Given the description of an element on the screen output the (x, y) to click on. 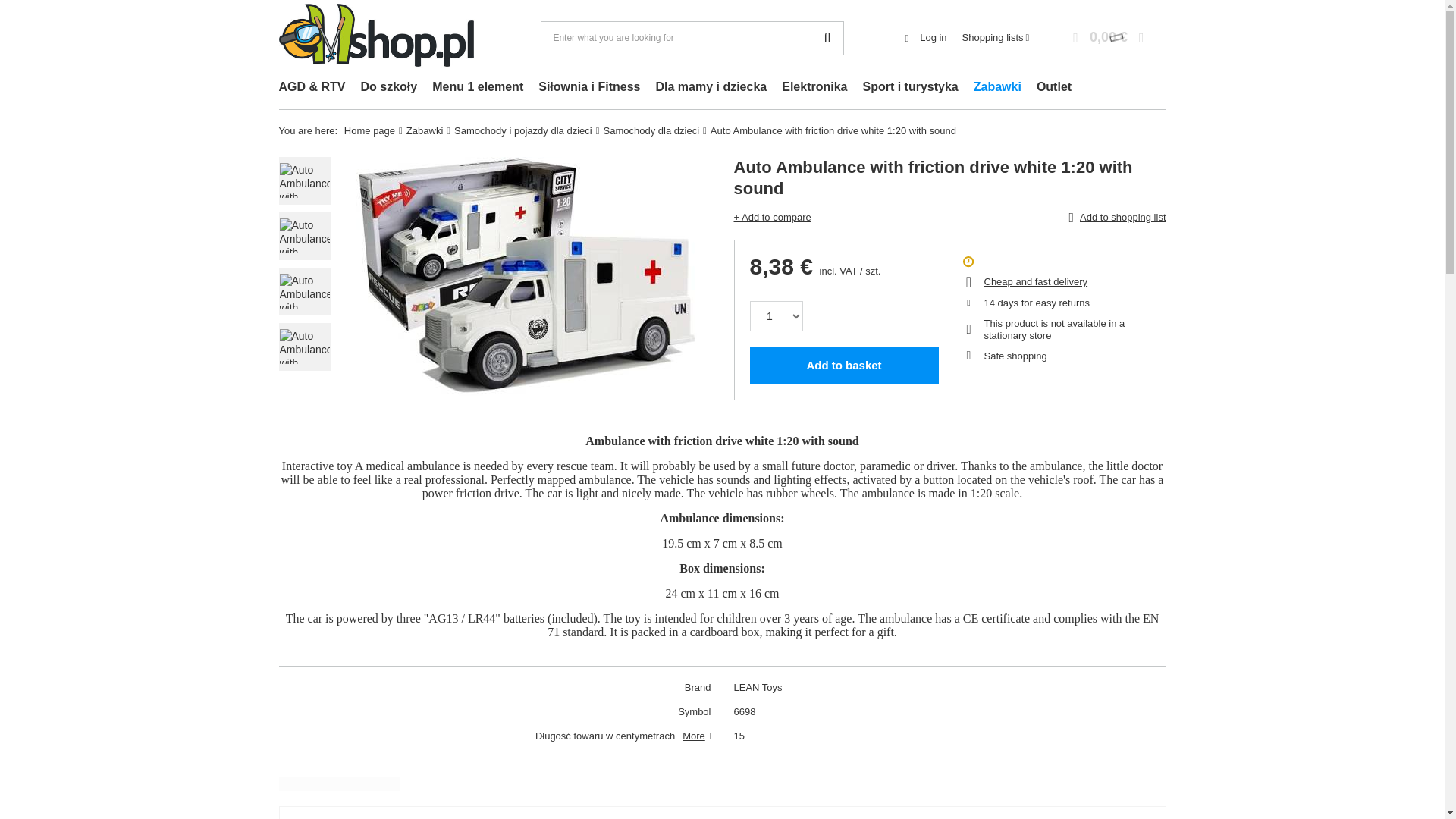
Log in (933, 38)
Menu 1 element (478, 88)
Shopping lists (995, 37)
